Given the description of an element on the screen output the (x, y) to click on. 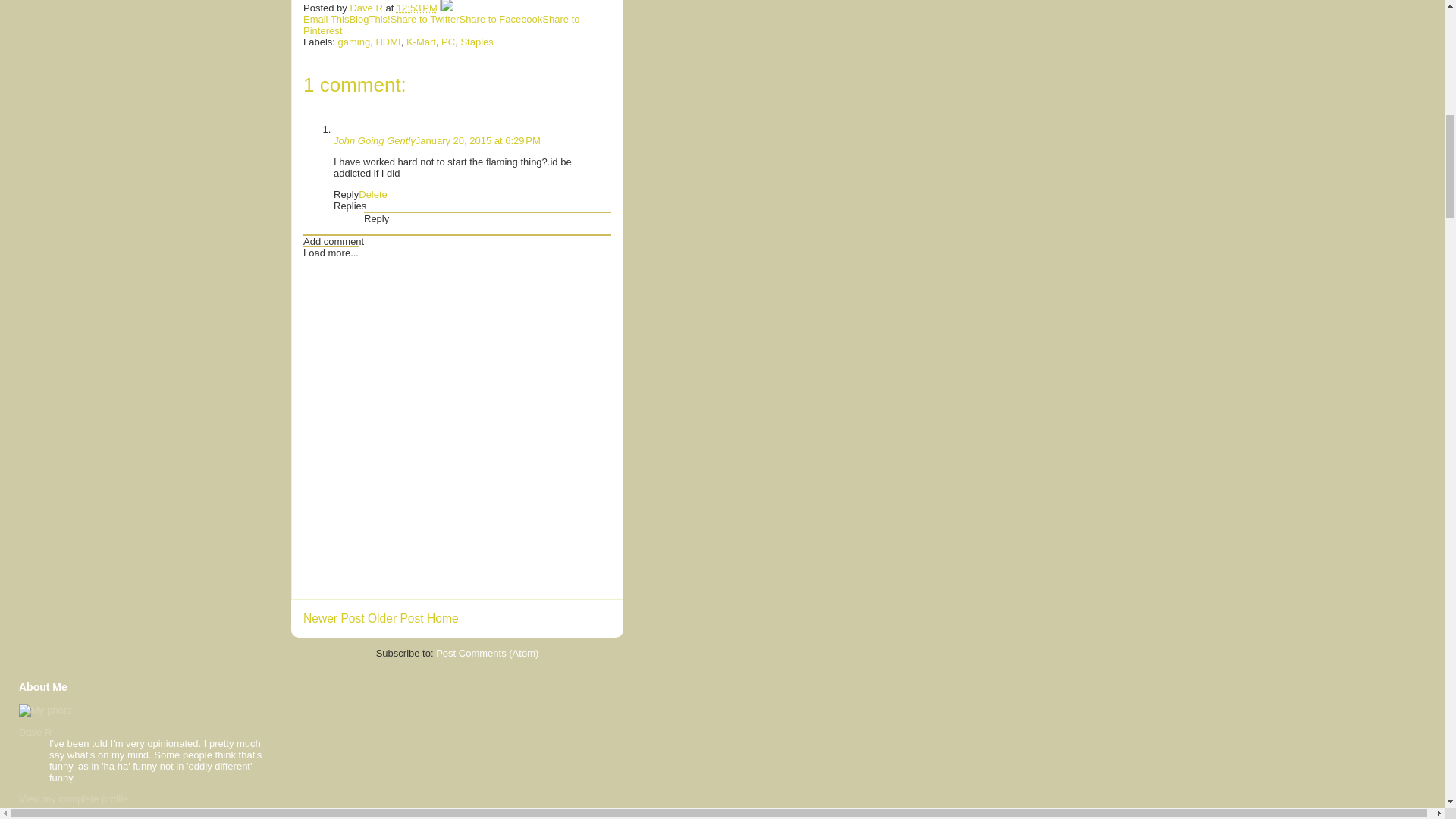
Share to Twitter (425, 19)
Reply (345, 194)
Email This (325, 19)
Newer Post (333, 617)
John Going Gently (373, 140)
K-Mart (420, 41)
PC (447, 41)
View my complete profile (73, 798)
Share to Pinterest (440, 24)
Share to Facebook (499, 19)
BlogThis! (369, 19)
HDMI (387, 41)
Delete (372, 194)
Reply (376, 218)
